Given the description of an element on the screen output the (x, y) to click on. 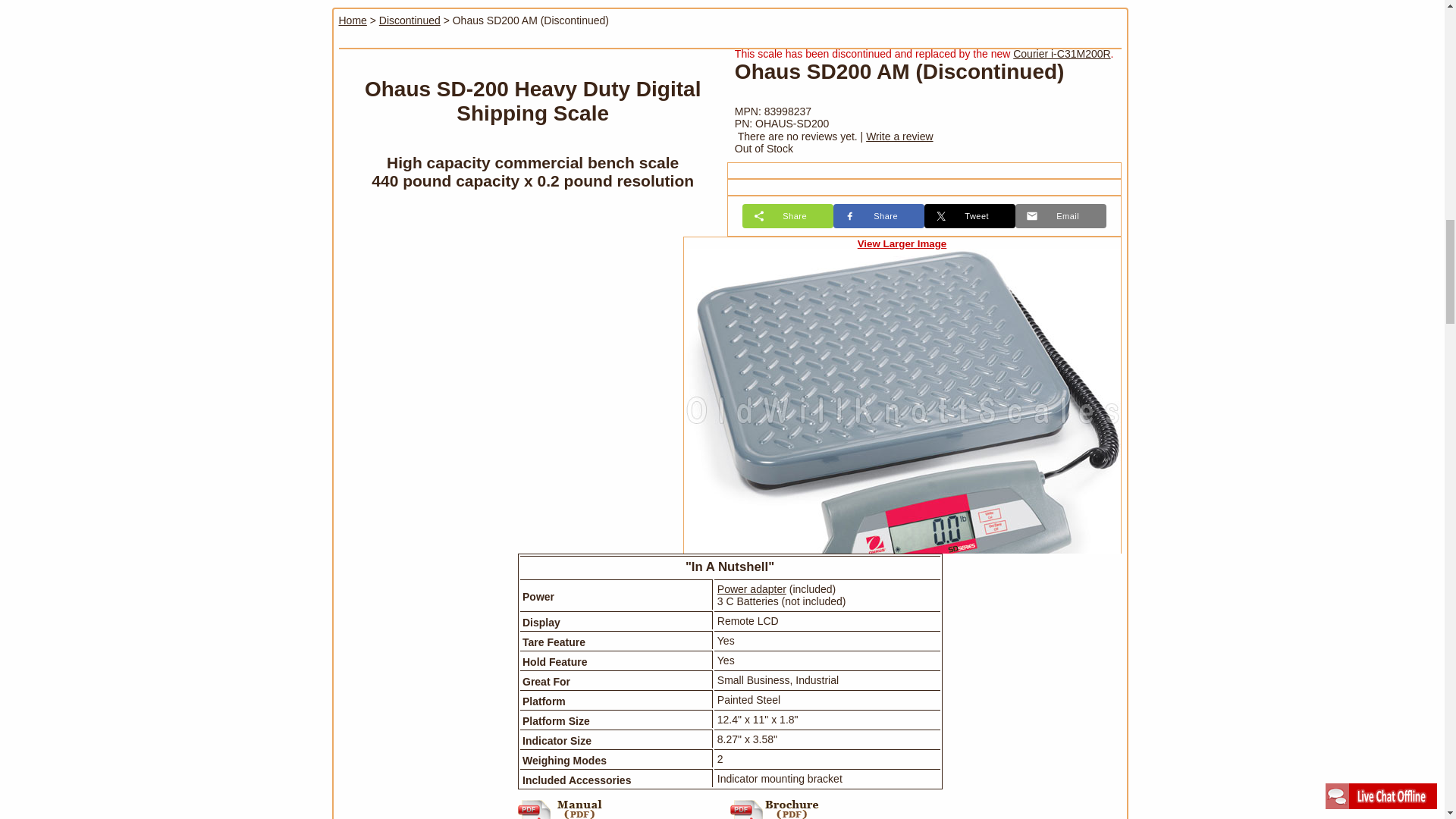
Go to the Courier i-C31M200R product page (1061, 53)
Go to the power adapter product page (751, 589)
opens PDF in new tab (622, 804)
opens PDF in new tab (835, 804)
